Given the description of an element on the screen output the (x, y) to click on. 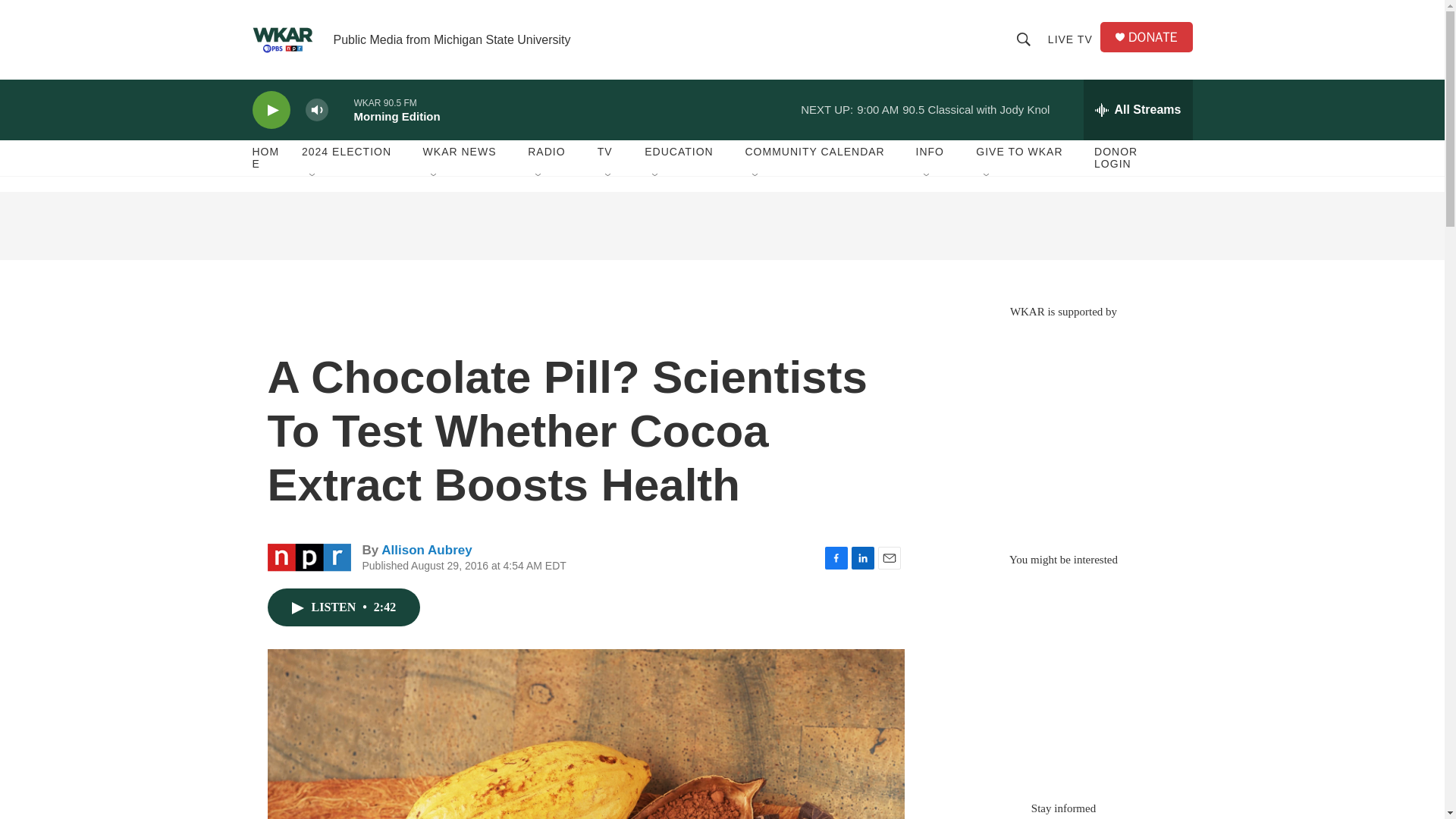
3rd party ad content (1062, 677)
3rd party ad content (1062, 428)
3rd party ad content (721, 225)
